Given the description of an element on the screen output the (x, y) to click on. 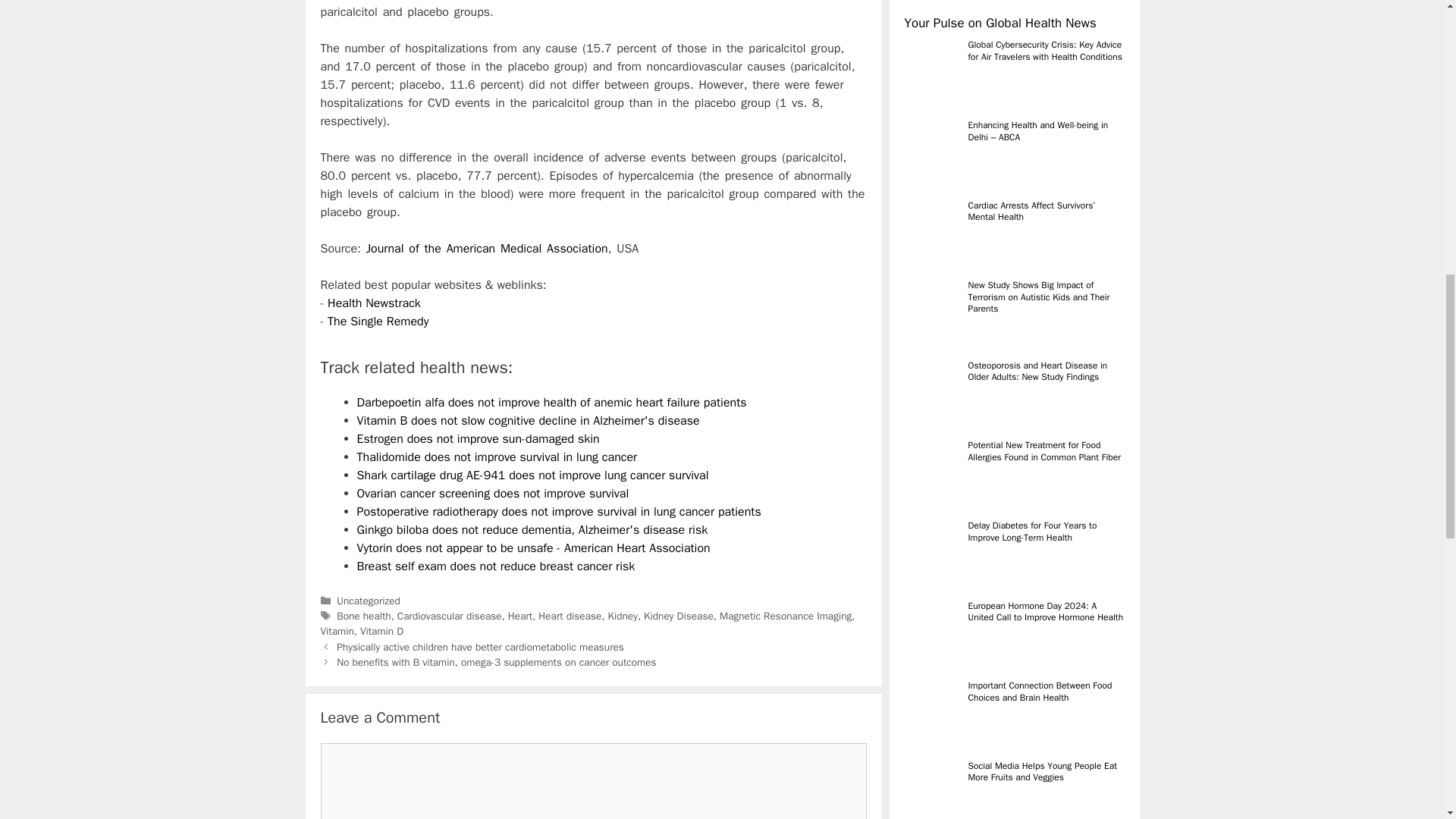
Magnetic Resonance Imaging (785, 615)
Journal of the American Medical Association (487, 248)
Health Newstrack (373, 303)
Kidney (622, 615)
The Single Remedy (377, 321)
Kidney Disease (678, 615)
Breast self exam does not reduce breast cancer risk (495, 566)
Estrogen does not improve sun-damaged skin (477, 438)
Heart disease (569, 615)
Heart (520, 615)
